Given the description of an element on the screen output the (x, y) to click on. 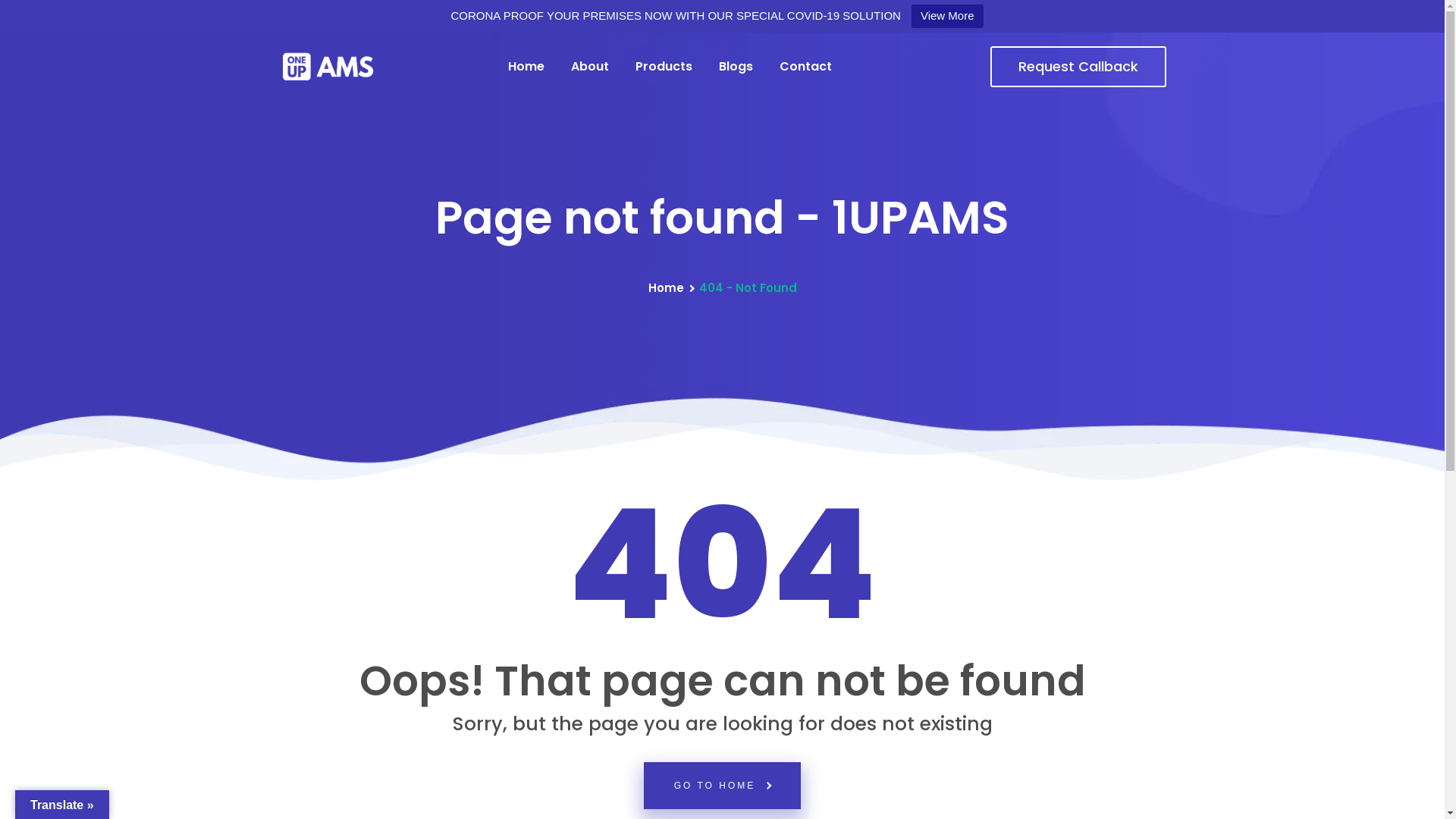
Request Callback Element type: text (1078, 66)
Products Element type: text (663, 66)
Title Element type: hover (327, 66)
Contact Element type: text (805, 66)
View More Element type: text (947, 16)
Home Element type: text (665, 287)
Blogs Element type: text (735, 66)
GO TO HOME Element type: text (722, 785)
About Element type: text (589, 66)
Home Element type: text (526, 66)
